Given the description of an element on the screen output the (x, y) to click on. 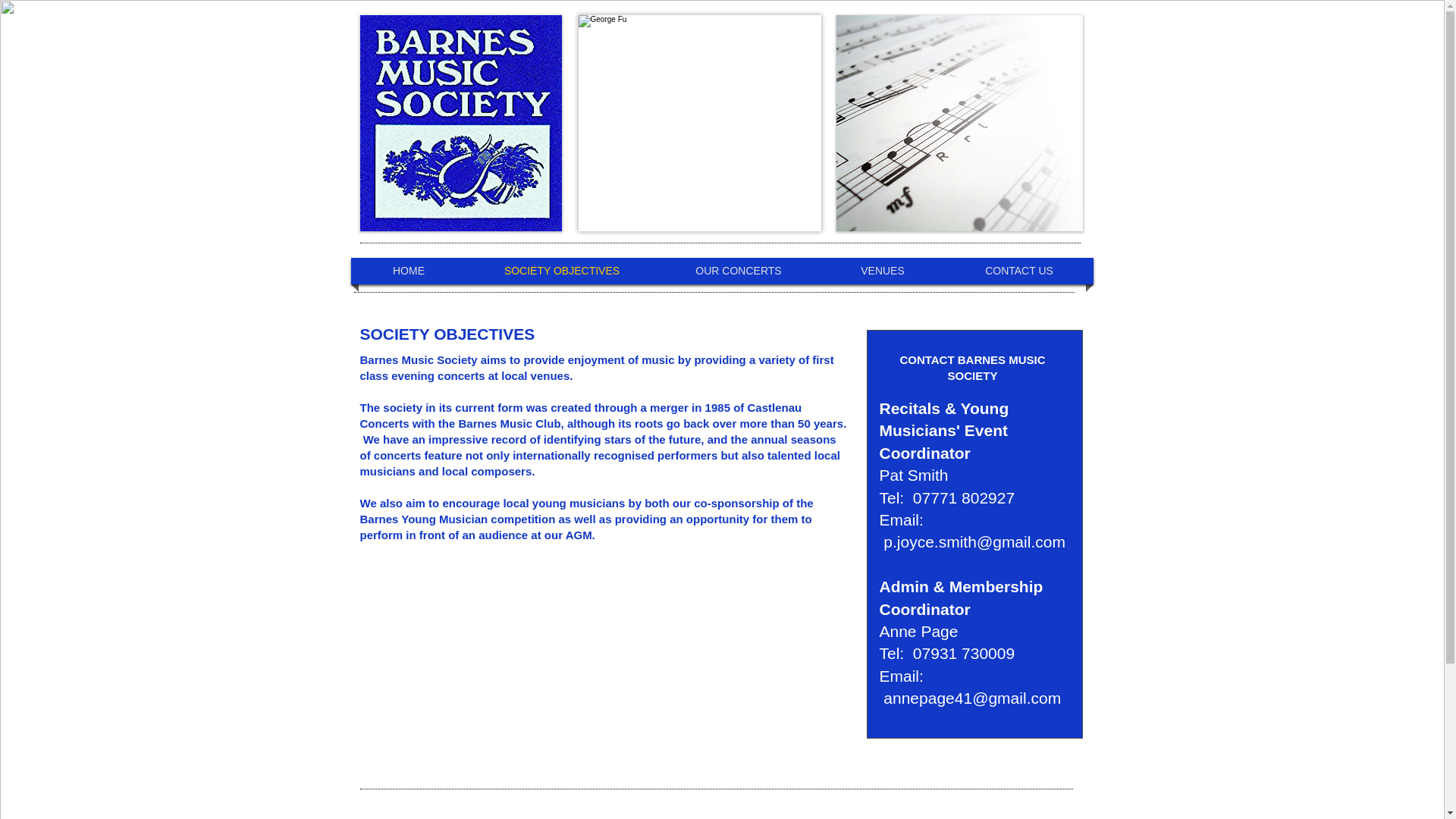
musicpaper.png (958, 122)
CONTACT US (1019, 270)
HOME (409, 270)
OUR CONCERTS (738, 270)
SOCIETY OBJECTIVES (561, 270)
VENUES (882, 270)
